Given the description of an element on the screen output the (x, y) to click on. 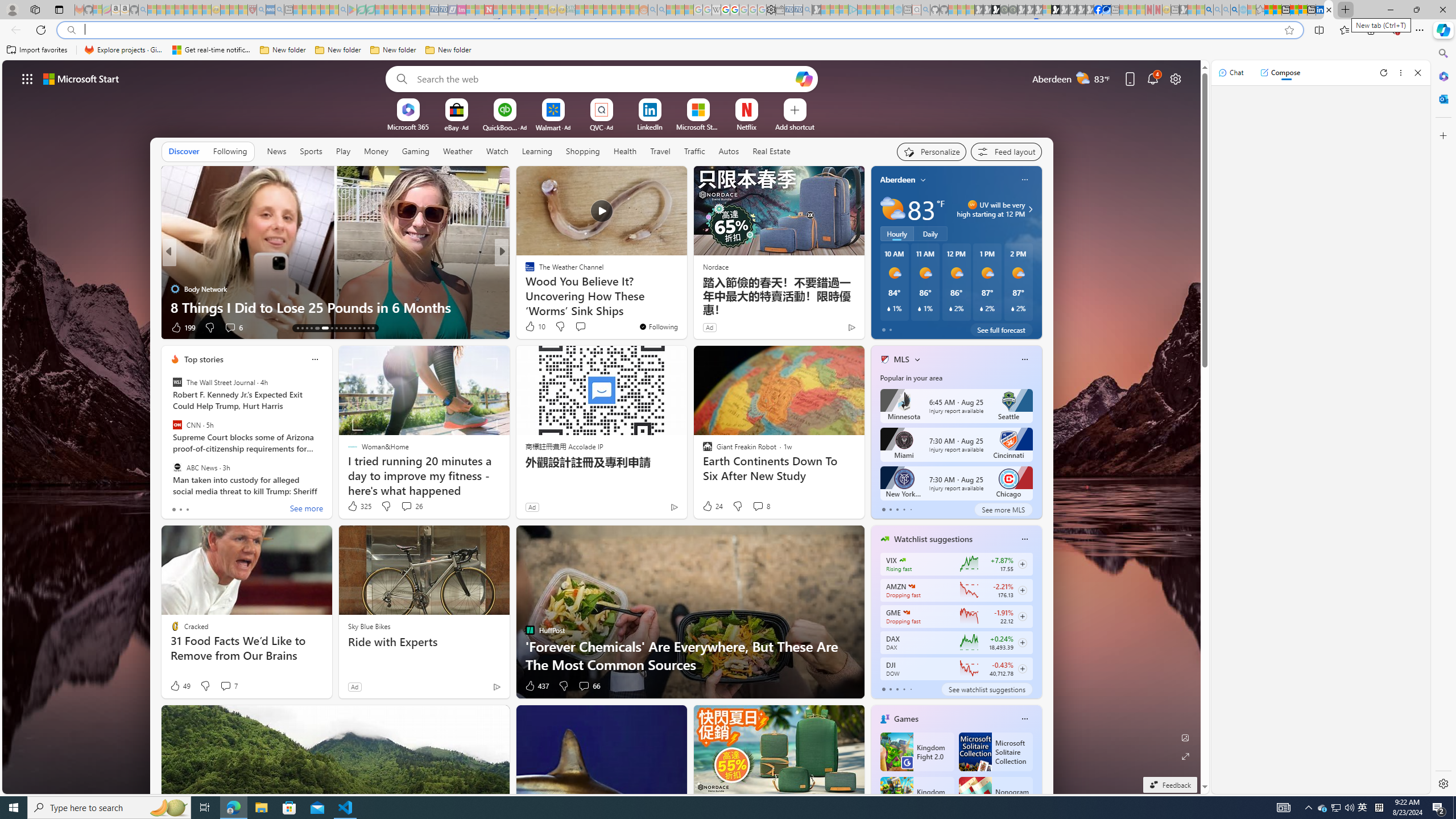
EatingWell (524, 270)
tab-0 (882, 689)
View comments 8 Comment (760, 505)
39 Like (530, 327)
tab-1 (889, 689)
Pets - MSN - Sleeping (324, 9)
